Given the description of an element on the screen output the (x, y) to click on. 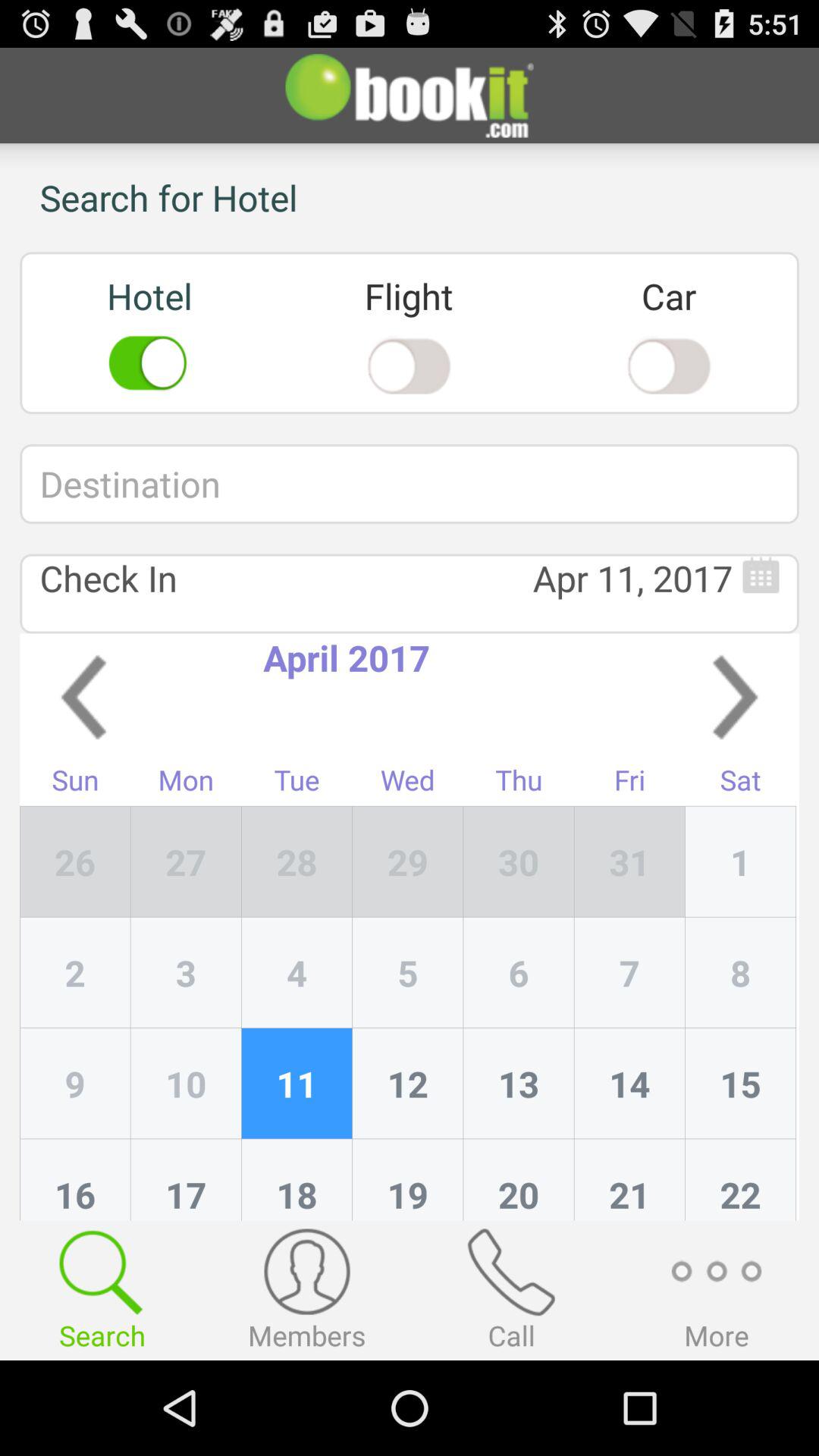
open the item to the right of 10 item (296, 1179)
